Given the description of an element on the screen output the (x, y) to click on. 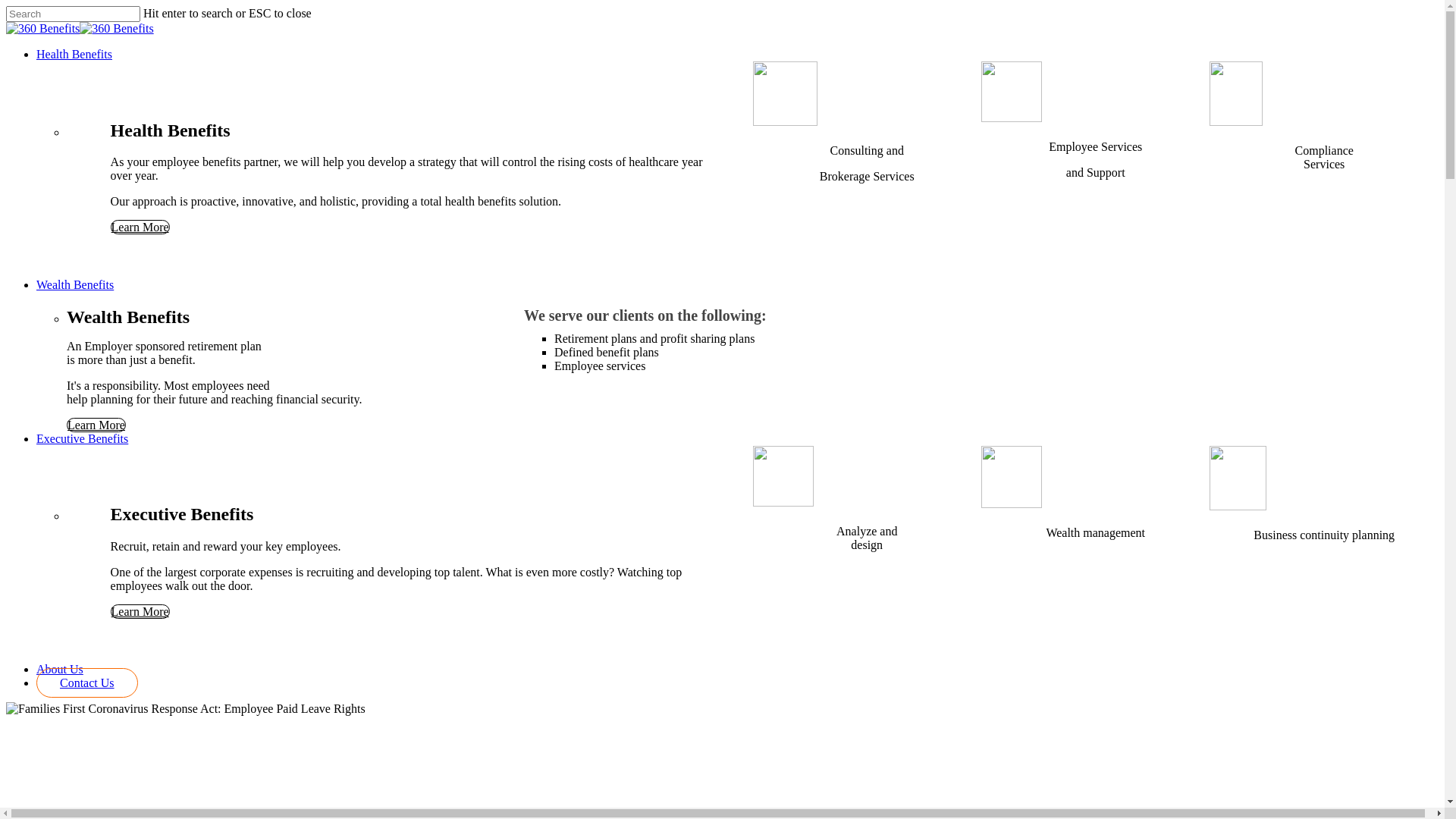
About Us Element type: text (59, 668)
Executive Benefits Element type: text (82, 438)
Contact Us Element type: text (87, 682)
Wealth Benefits Element type: text (74, 284)
Learn More Element type: text (95, 424)
Health Benefits Element type: text (74, 53)
Learn More Element type: text (139, 226)
Learn More Element type: text (139, 611)
Article Element type: text (22, 781)
